Given the description of an element on the screen output the (x, y) to click on. 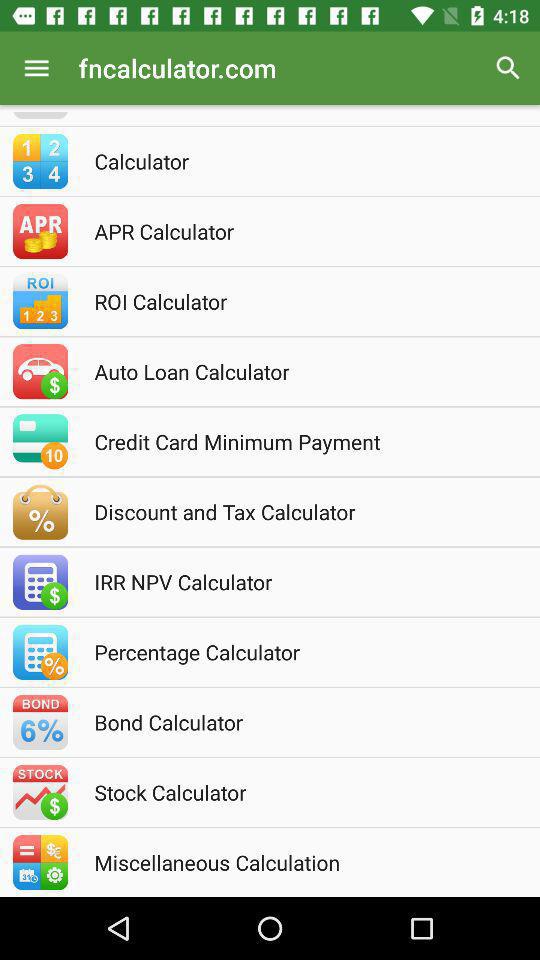
choose icon at the top right corner (508, 67)
